Given the description of an element on the screen output the (x, y) to click on. 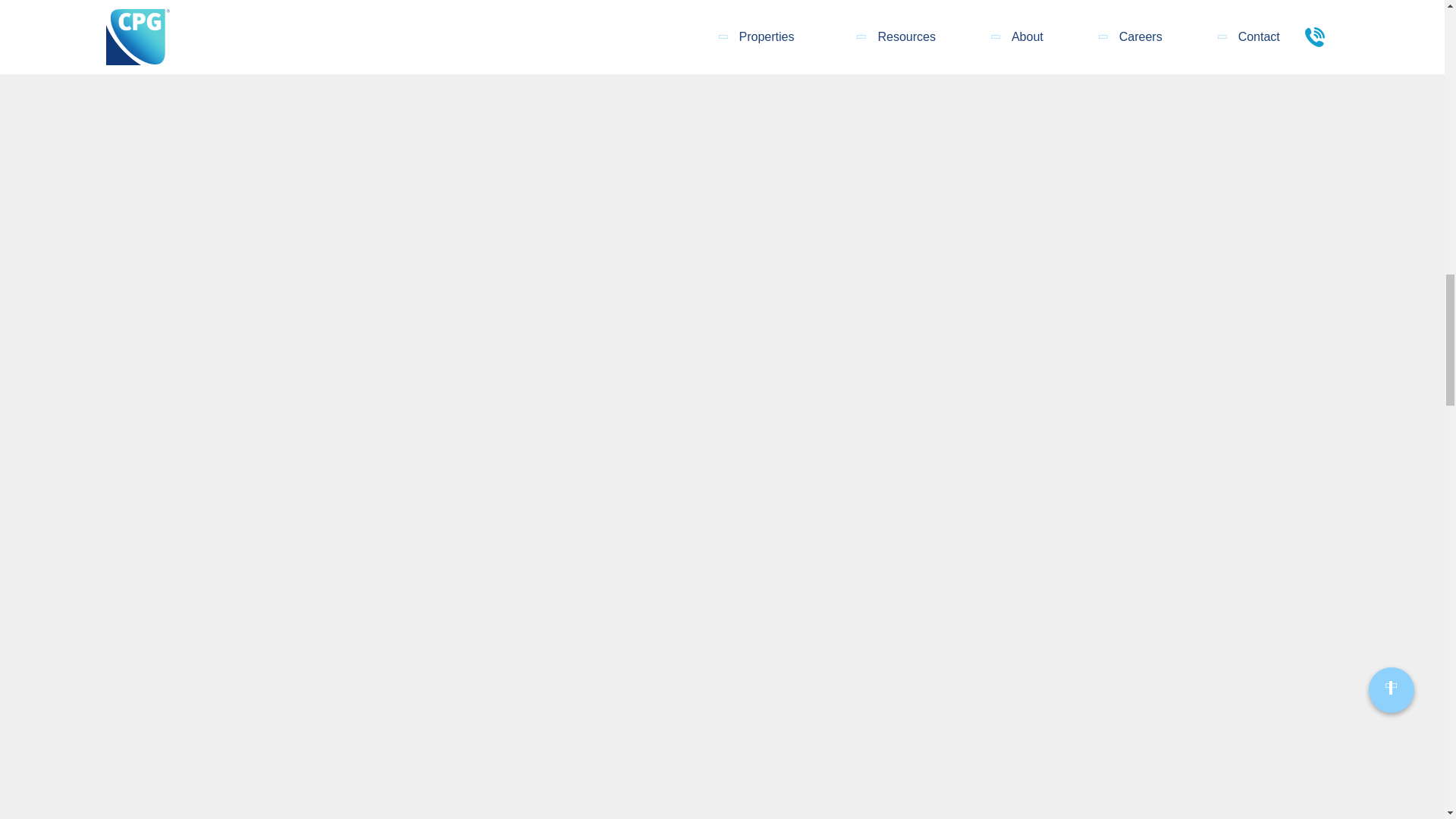
Submit (1168, 14)
Submit (1168, 14)
